Given the description of an element on the screen output the (x, y) to click on. 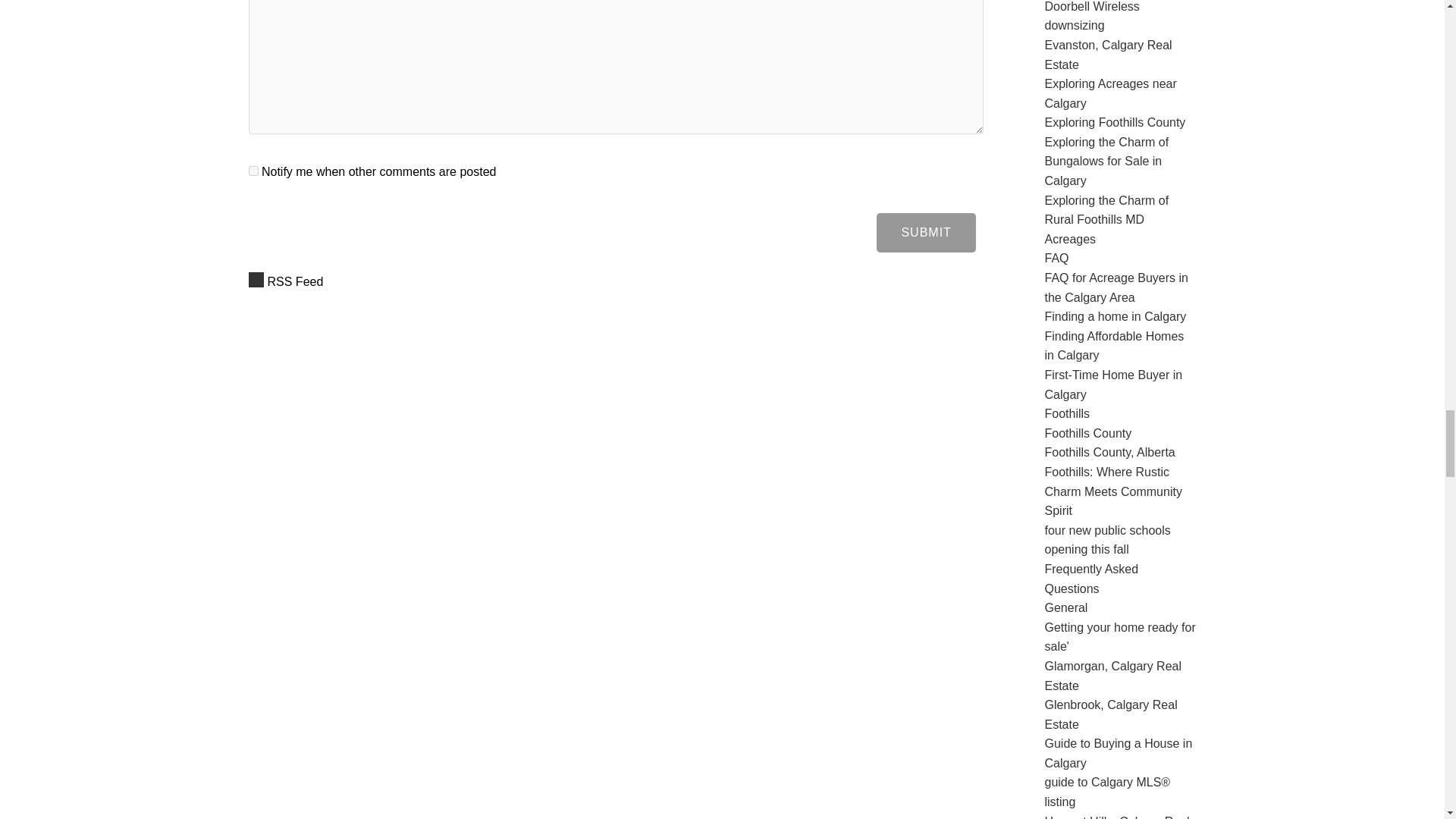
Notify me when other comments are posted (253, 171)
